Given the description of an element on the screen output the (x, y) to click on. 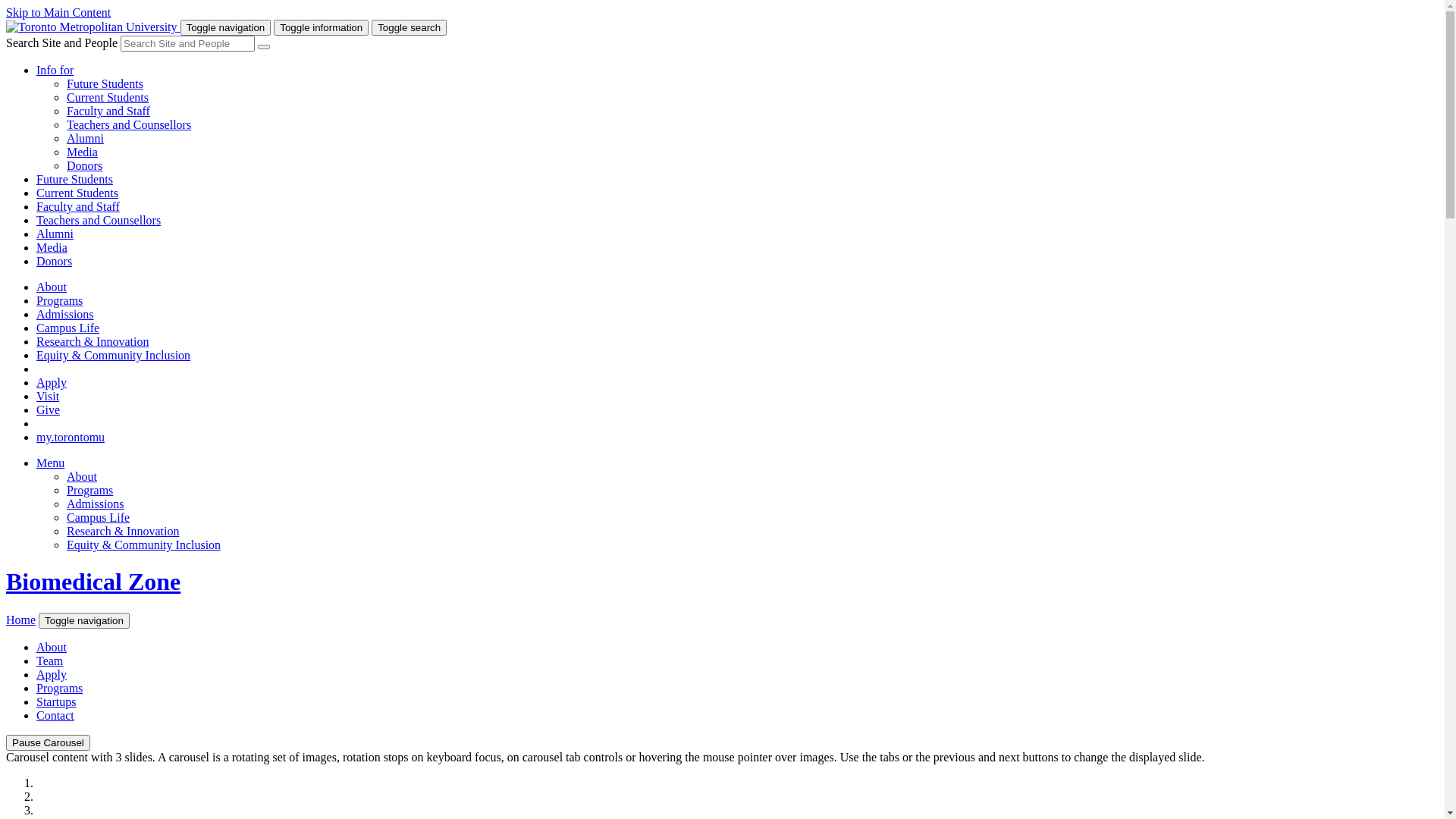
Biomedical Zone Element type: text (93, 581)
Campus Life Element type: text (67, 327)
Teachers and Counsellors Element type: text (98, 219)
Visit Element type: text (47, 395)
Toggle navigation Element type: text (225, 27)
Current Students Element type: text (77, 192)
Give Element type: text (47, 409)
Admissions Element type: text (95, 503)
Alumni Element type: text (84, 137)
Donors Element type: text (54, 260)
Current Students Element type: text (107, 97)
Programs Element type: text (59, 300)
Campus Life Element type: text (97, 517)
Toggle information Element type: text (320, 27)
Menu Element type: text (50, 462)
Future Students Element type: text (104, 83)
Research & Innovation Element type: text (122, 530)
Faculty and Staff Element type: text (108, 110)
Skip to Main Content Element type: text (58, 12)
Apply Element type: text (51, 674)
Apply Element type: text (51, 382)
Faculty and Staff Element type: text (77, 206)
my.torontomu Element type: text (70, 436)
Info for Element type: text (54, 69)
Pause Carousel Element type: text (48, 742)
Programs Element type: text (89, 489)
Toggle navigation Element type: text (83, 620)
Admissions Element type: text (65, 313)
Donors Element type: text (84, 165)
Research & Innovation Element type: text (92, 341)
Alumni Element type: text (54, 233)
About Element type: text (51, 646)
Contact Element type: text (55, 715)
Toronto Metropolitan University Element type: hover (91, 27)
Home Element type: text (20, 619)
Media Element type: text (51, 247)
Teachers and Counsellors Element type: text (128, 124)
Startups Element type: text (55, 701)
About Element type: text (51, 286)
Programs Element type: text (59, 687)
Future Students Element type: text (74, 178)
Toggle search Element type: text (408, 27)
Equity & Community Inclusion Element type: text (113, 354)
Equity & Community Inclusion Element type: text (143, 544)
Team Element type: text (49, 660)
About Element type: text (81, 476)
Media Element type: text (81, 151)
